Given the description of an element on the screen output the (x, y) to click on. 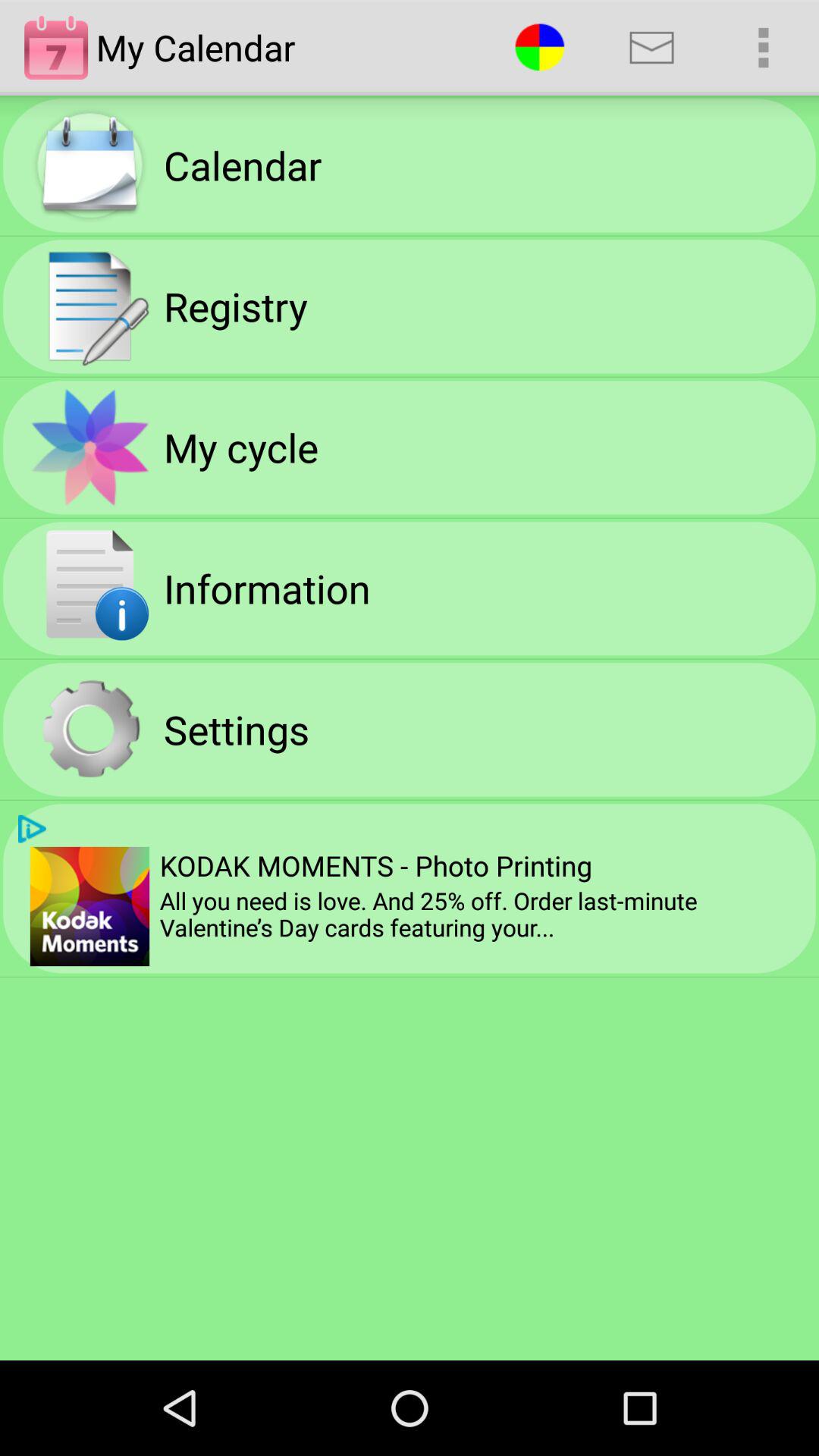
turn off the item above the all you need app (763, 47)
